Given the description of an element on the screen output the (x, y) to click on. 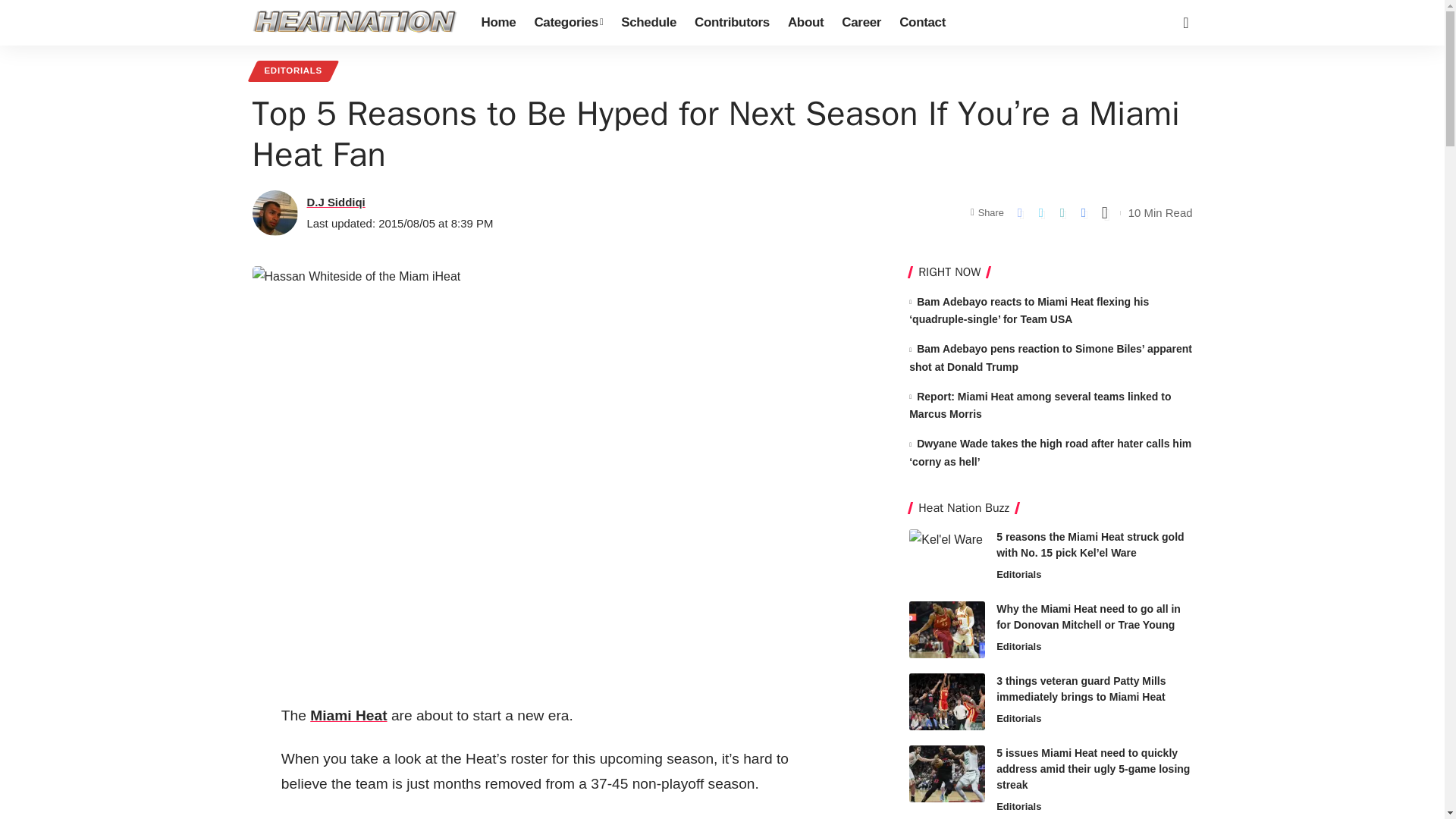
Miami Heat (348, 715)
D.J Siddiqi (335, 201)
EDITORIALS (292, 70)
About (805, 22)
Home (497, 22)
Contact (922, 22)
Categories (567, 22)
Contributors (731, 22)
Career (860, 22)
Schedule (648, 22)
Heat Nation (354, 22)
Categories (567, 22)
